Given the description of an element on the screen output the (x, y) to click on. 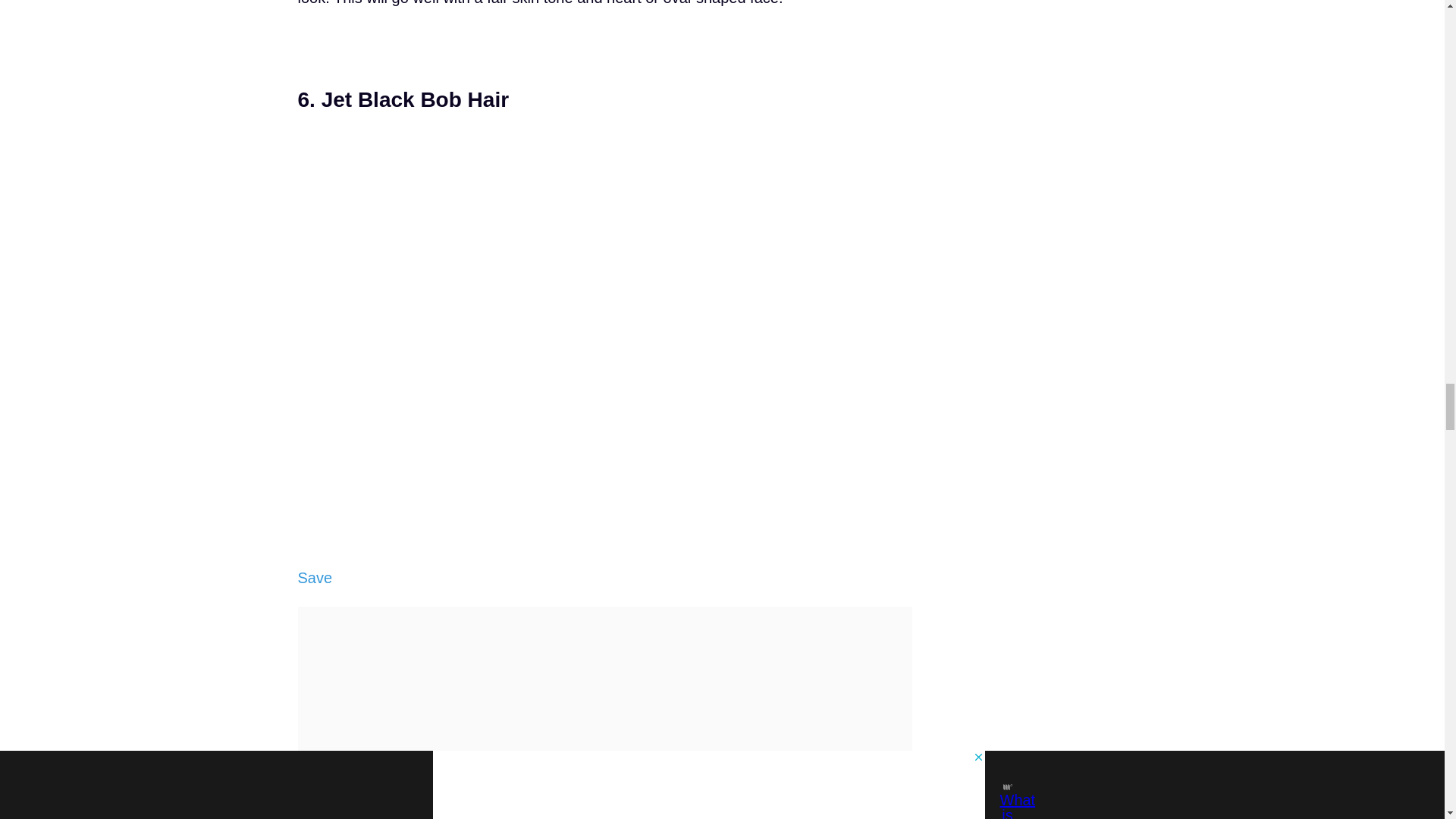
Save (314, 577)
